Given the description of an element on the screen output the (x, y) to click on. 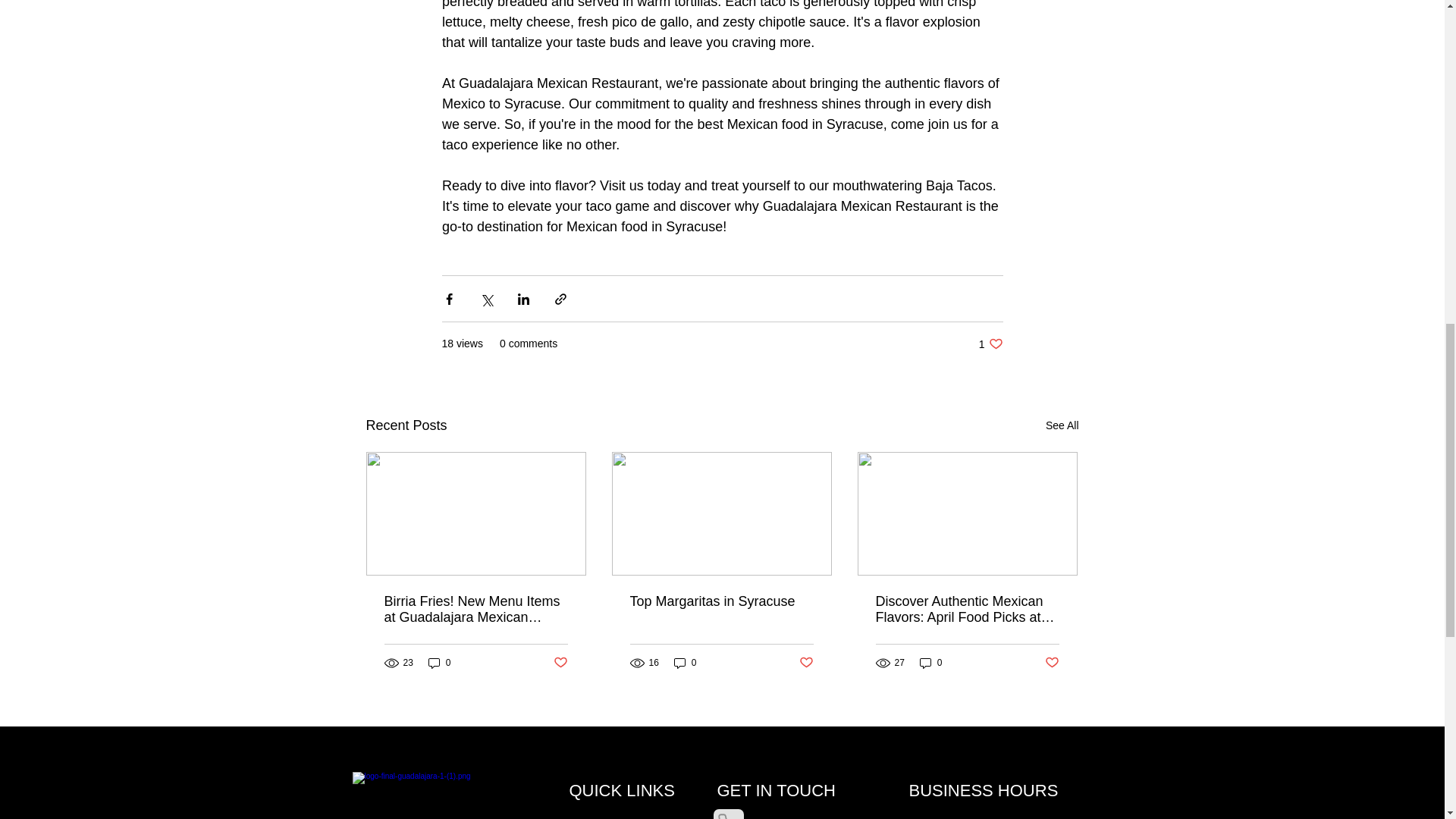
0 (439, 663)
About Us (615, 816)
0 (685, 663)
0 (930, 663)
Post not marked as liked (990, 343)
Post not marked as liked (560, 662)
See All (1052, 662)
